Given the description of an element on the screen output the (x, y) to click on. 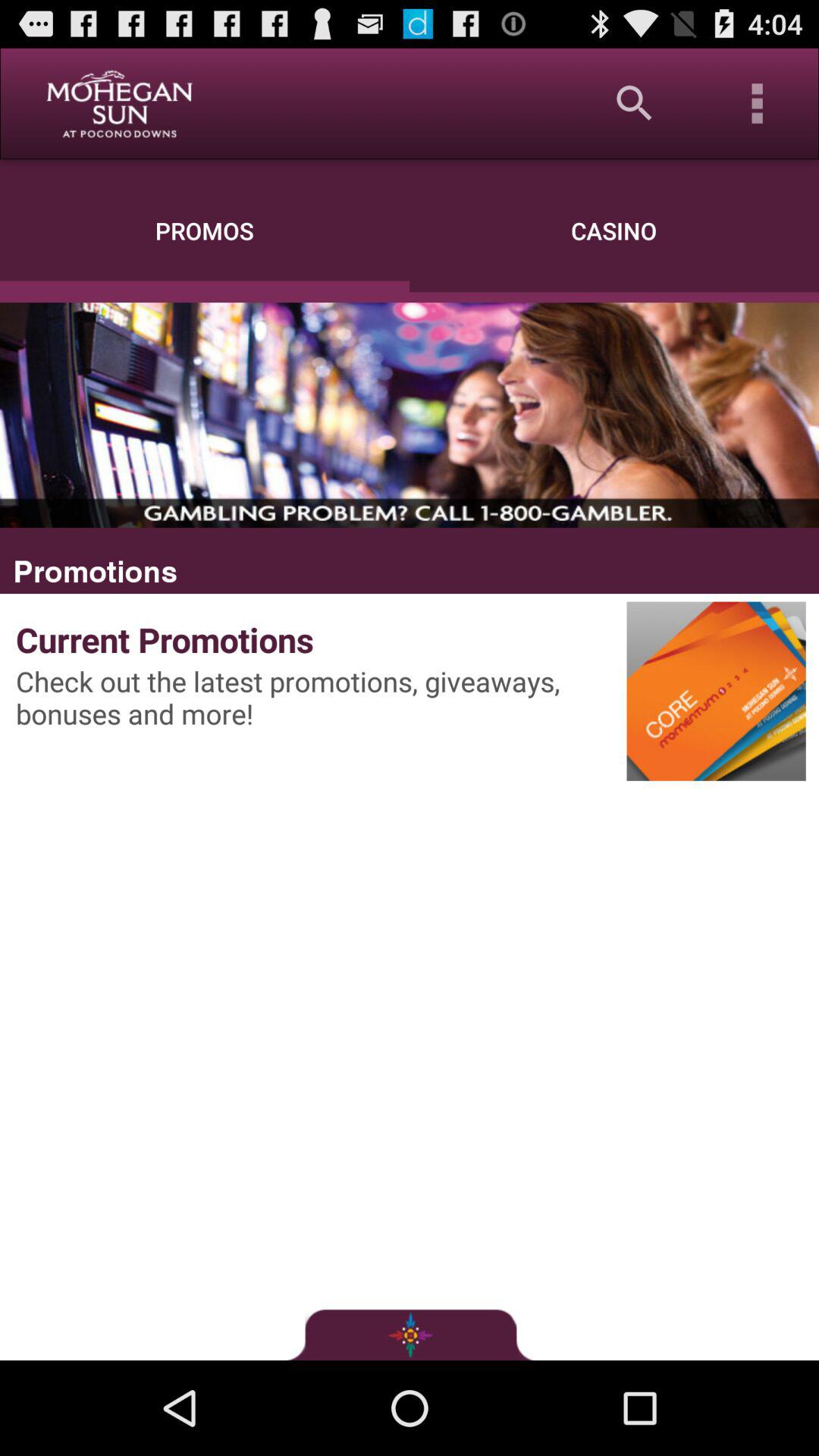
launch the app above the casino item (634, 103)
